Given the description of an element on the screen output the (x, y) to click on. 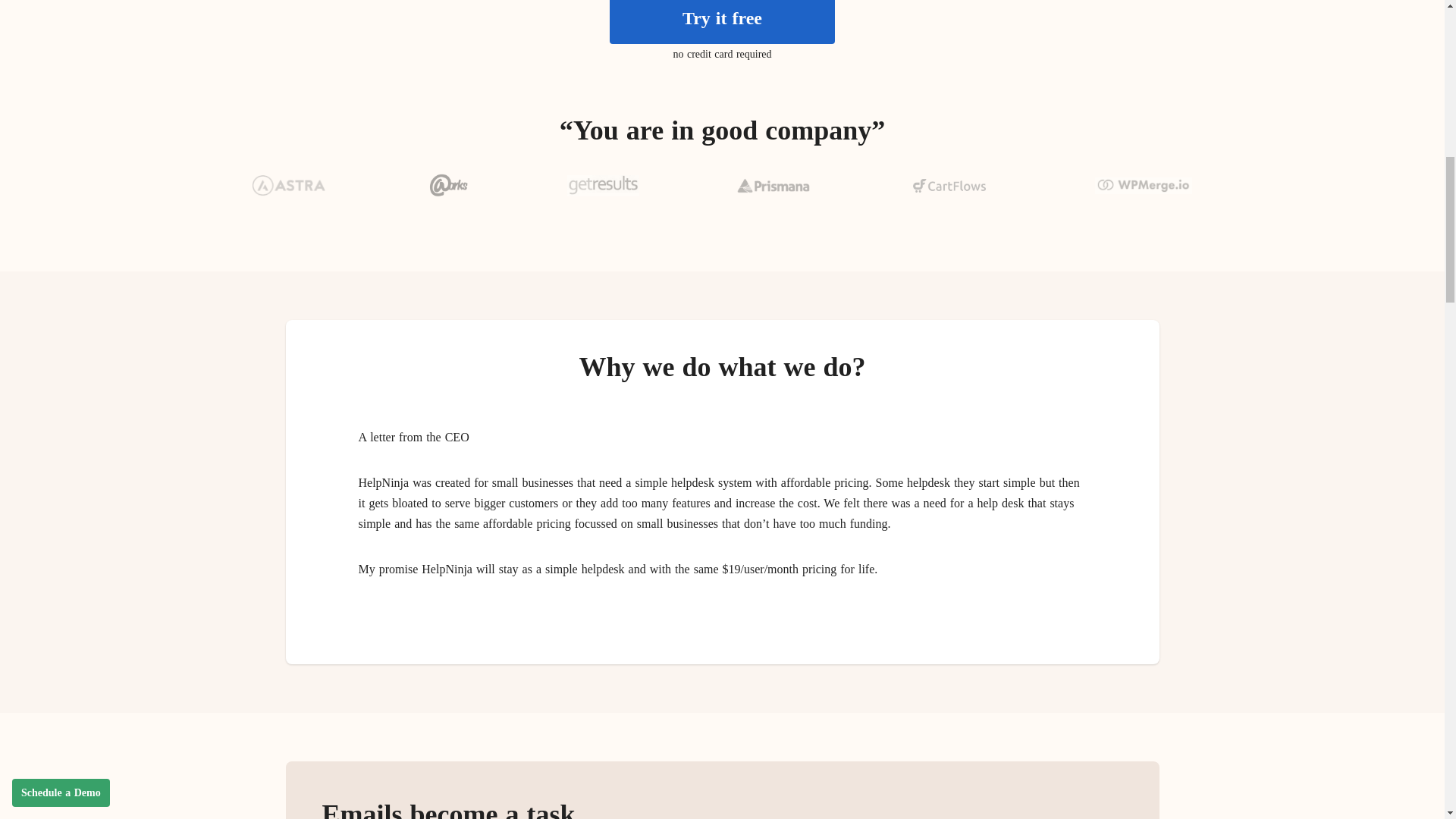
Try it free (722, 22)
